Given the description of an element on the screen output the (x, y) to click on. 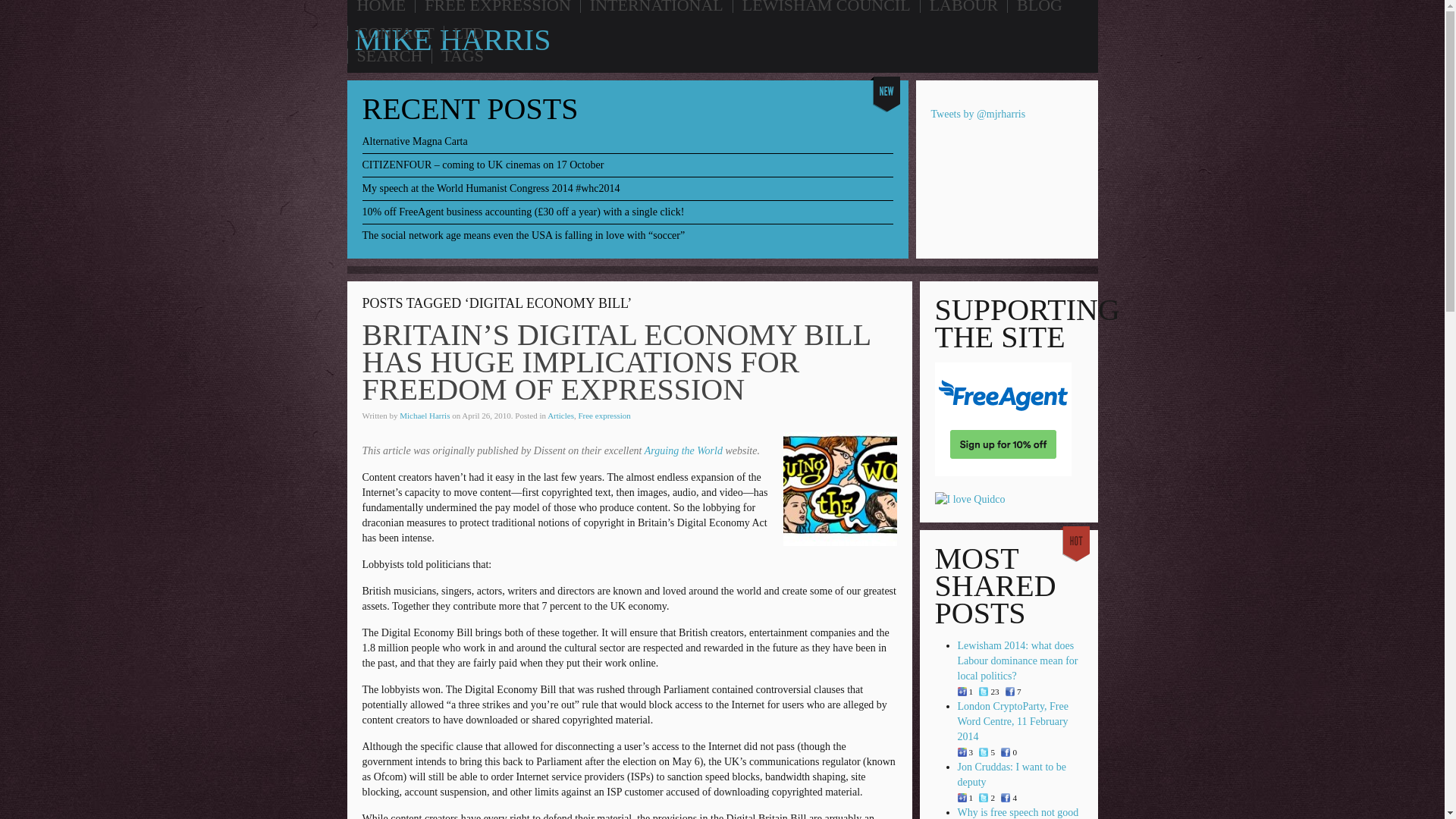
Tweets (983, 691)
Search (498, 99)
LTD (468, 33)
Facebook shares (1005, 751)
View all posts in Articles (560, 415)
View all posts in Free expression (604, 415)
FREE EXPRESSION (496, 8)
Facebook shares (1010, 691)
Facebook shares (1005, 797)
Tweets (983, 751)
